Given the description of an element on the screen output the (x, y) to click on. 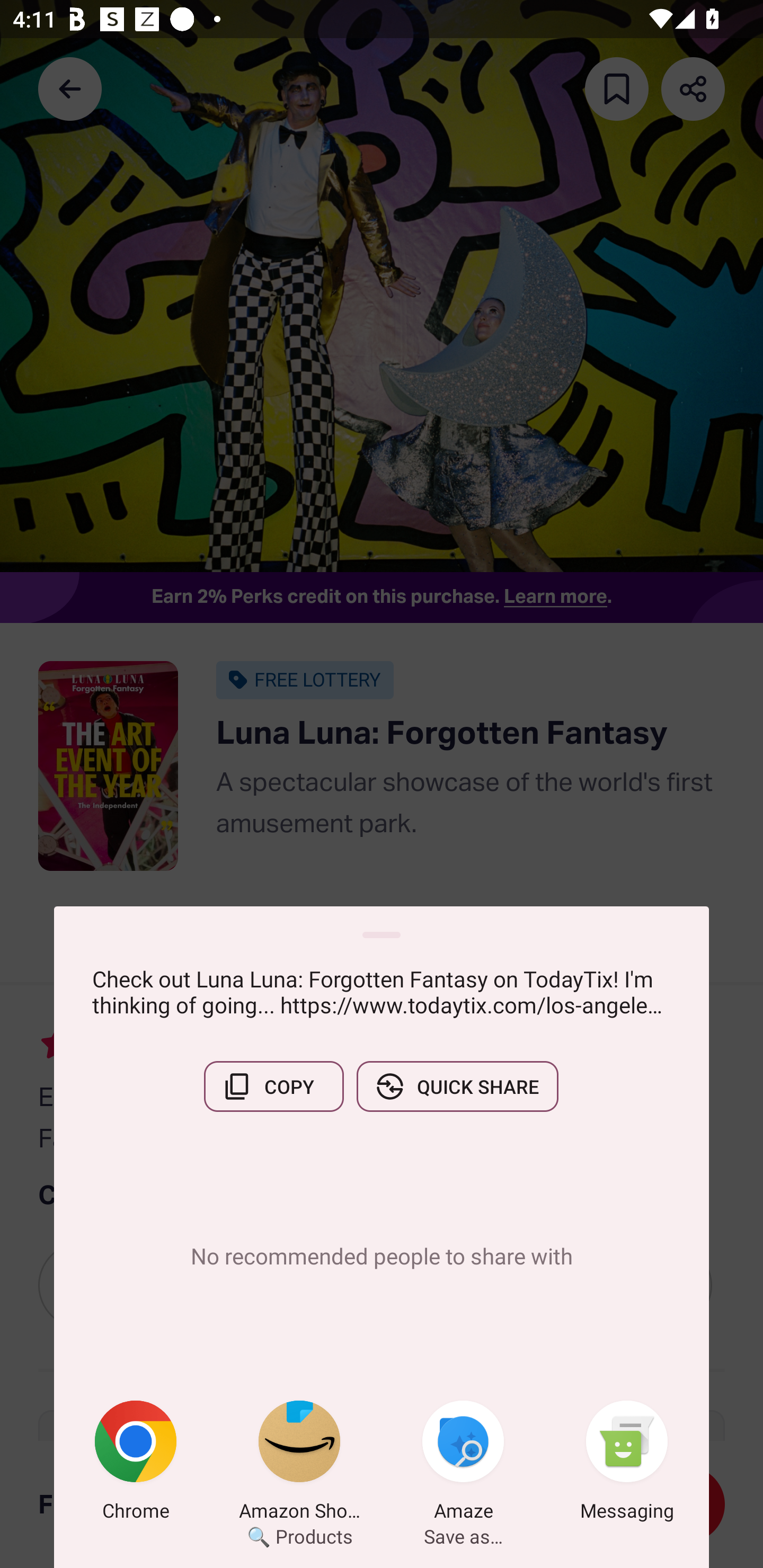
COPY (273, 1086)
QUICK SHARE (457, 1086)
Chrome (135, 1463)
Amazon Shopping 🔍 Products (299, 1463)
Amaze Save as… (463, 1463)
Messaging (626, 1463)
